Given the description of an element on the screen output the (x, y) to click on. 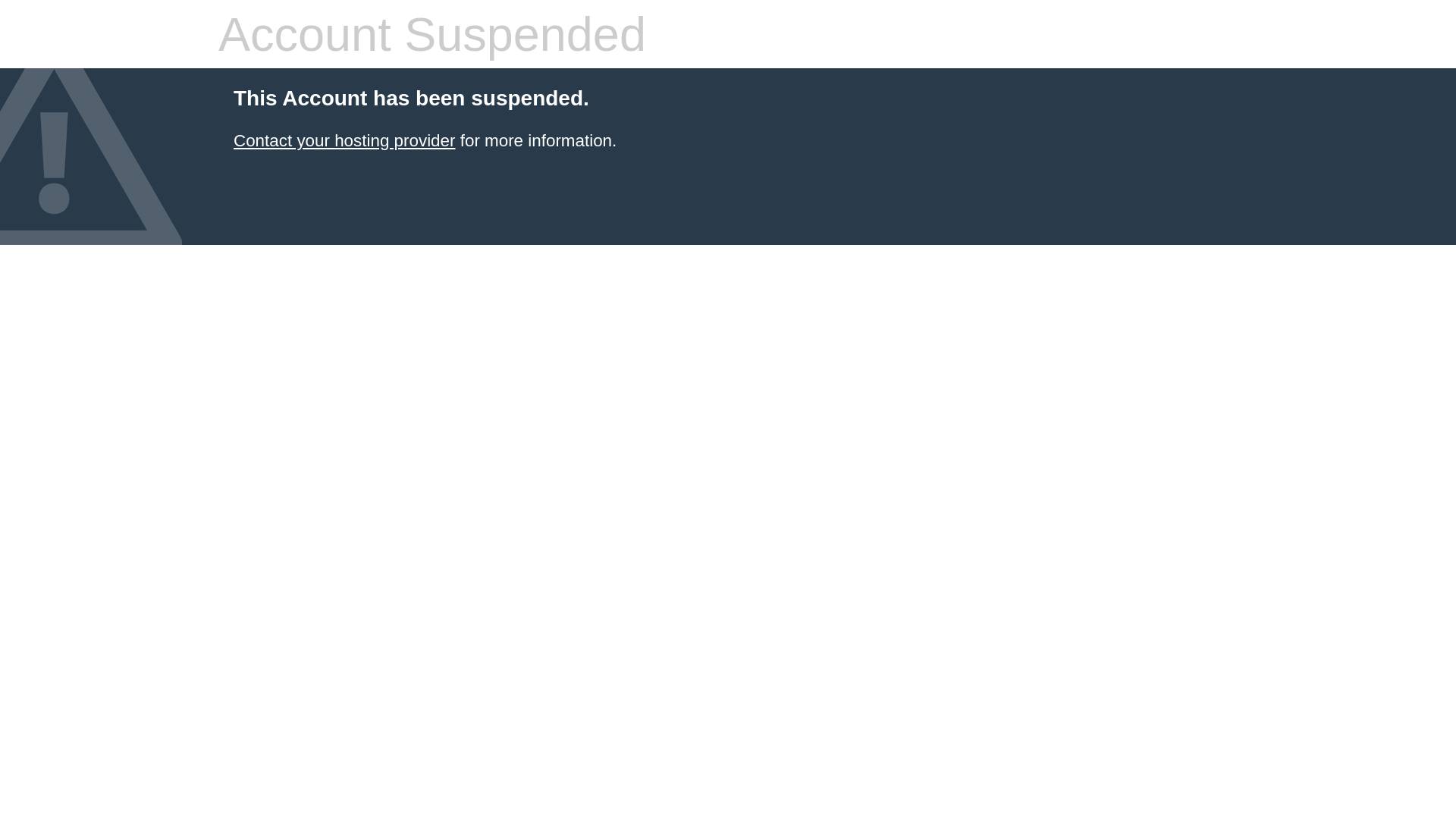
Contact your hosting provider Element type: text (344, 140)
